Given the description of an element on the screen output the (x, y) to click on. 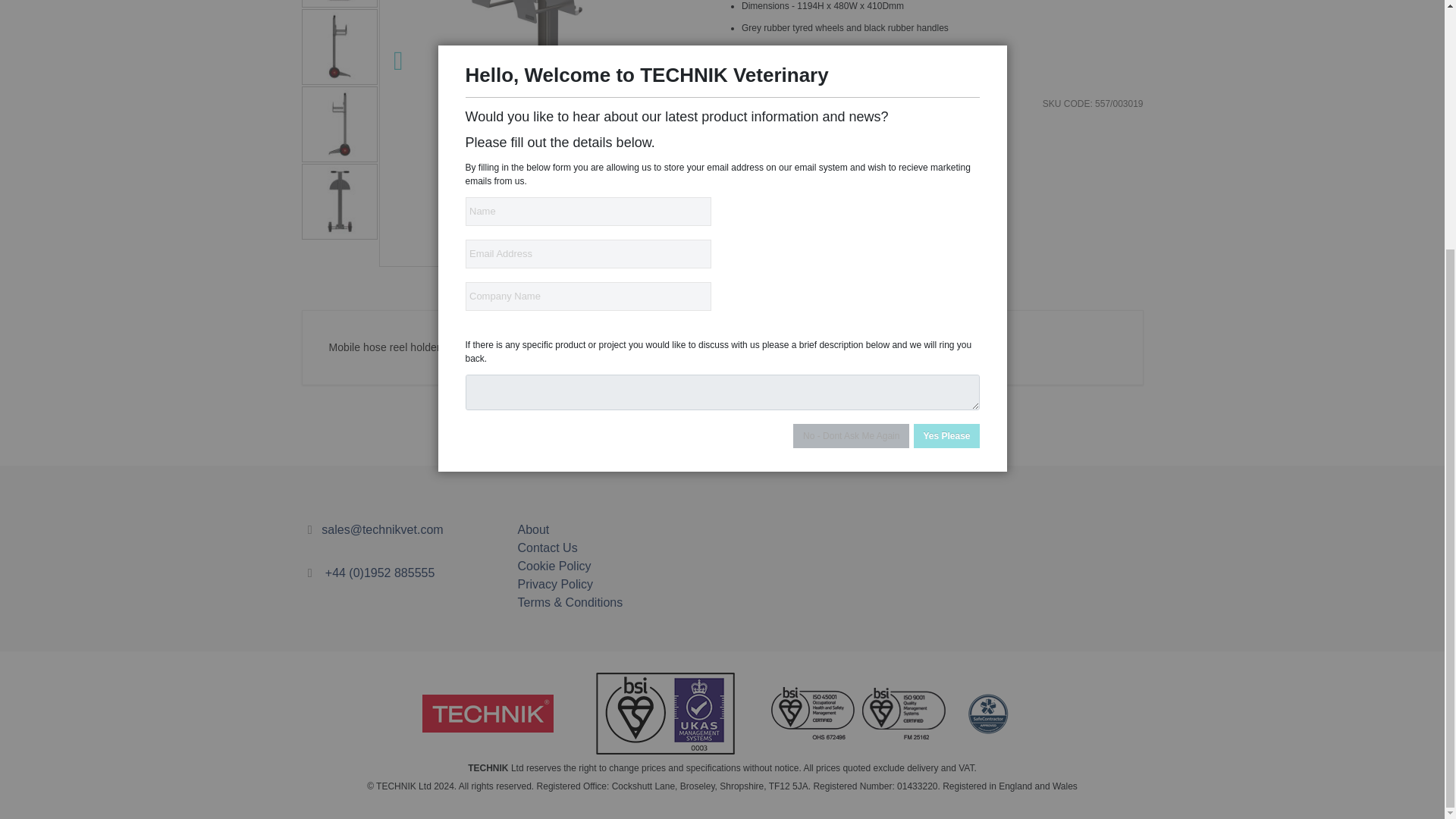
1 (750, 160)
